Given the description of an element on the screen output the (x, y) to click on. 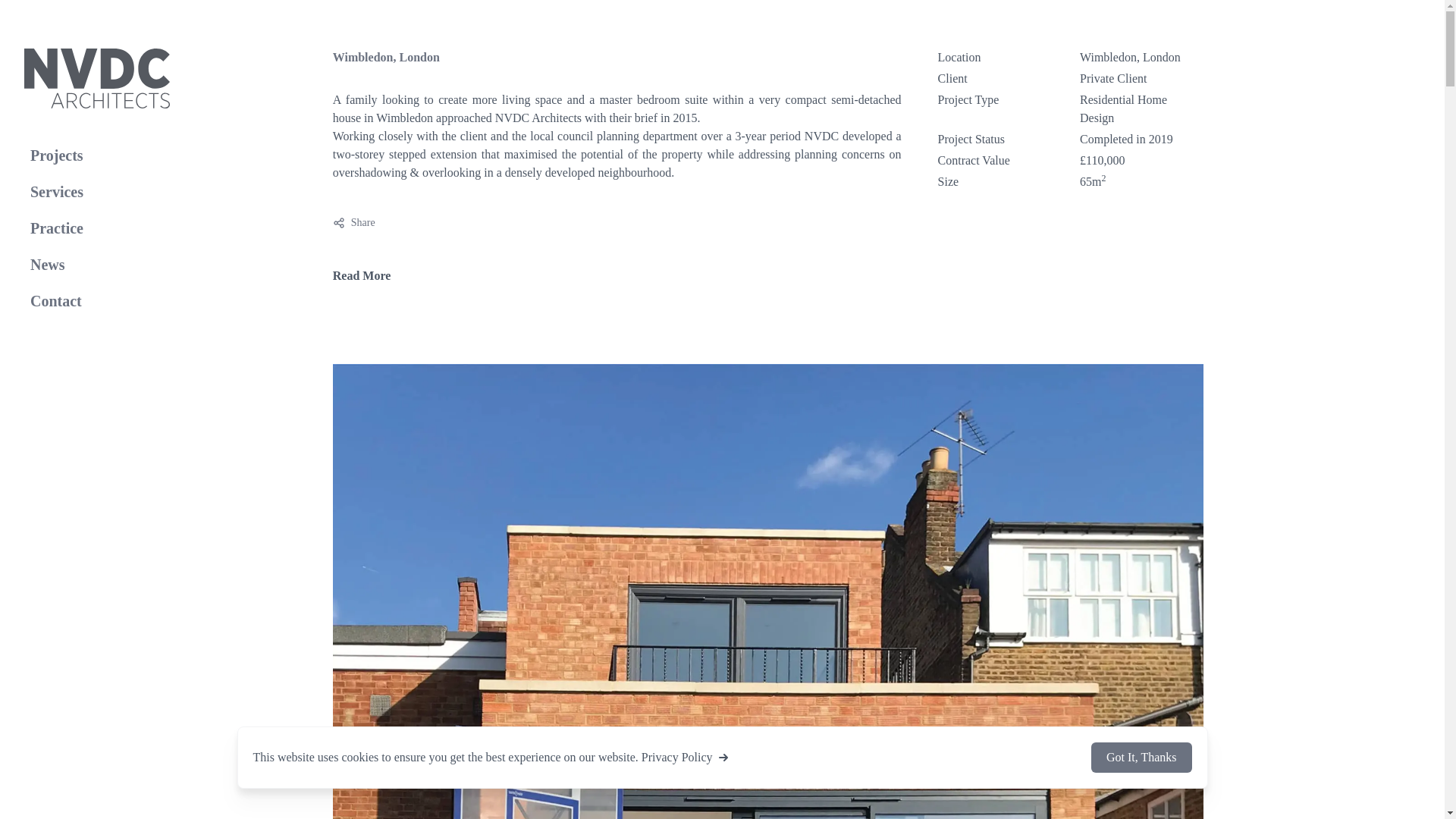
News (97, 264)
Read More (362, 275)
Practice (97, 227)
Services (354, 222)
Projects (97, 191)
Contact (97, 154)
